Given the description of an element on the screen output the (x, y) to click on. 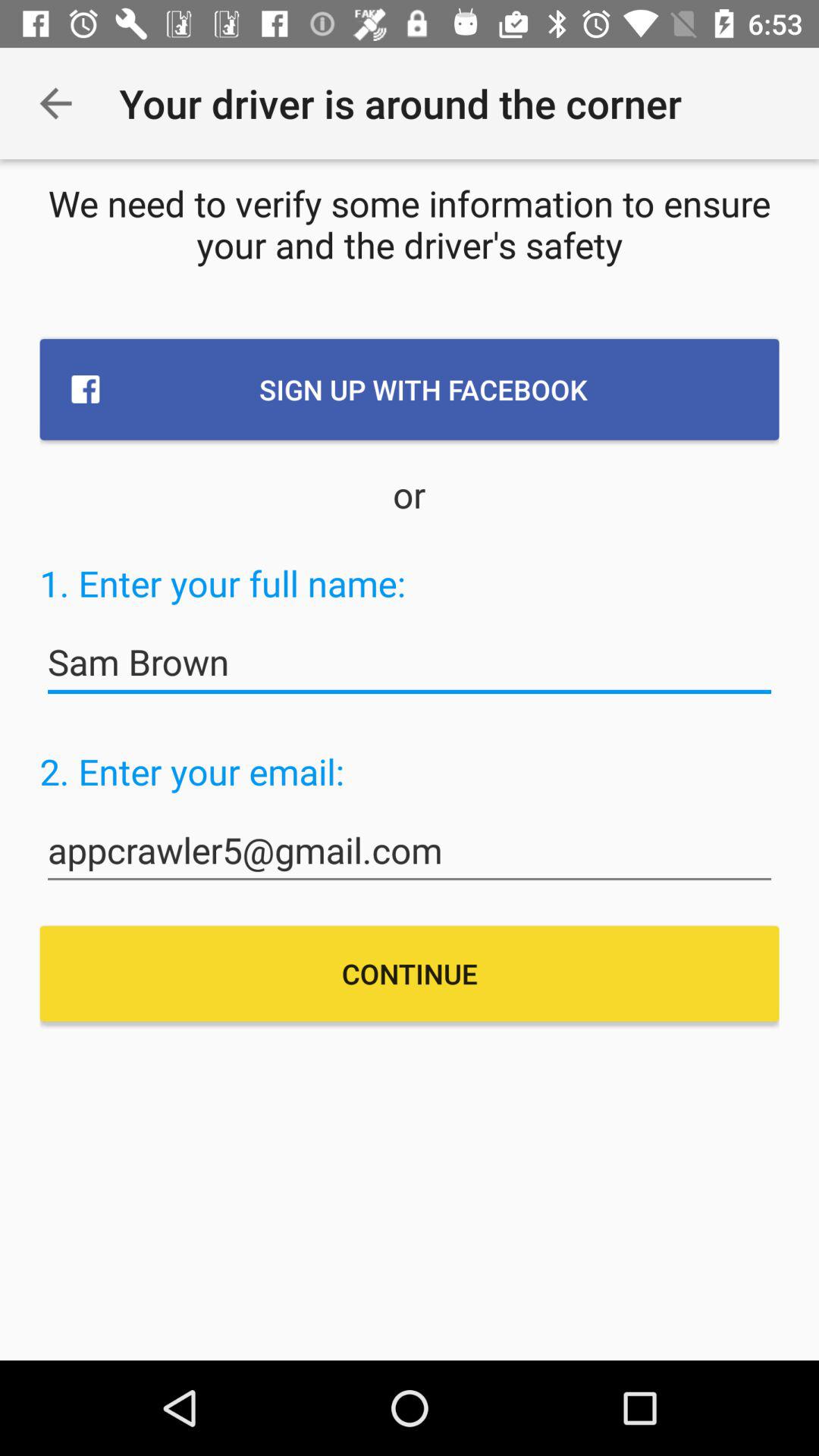
turn off the icon below the we need to item (409, 389)
